Given the description of an element on the screen output the (x, y) to click on. 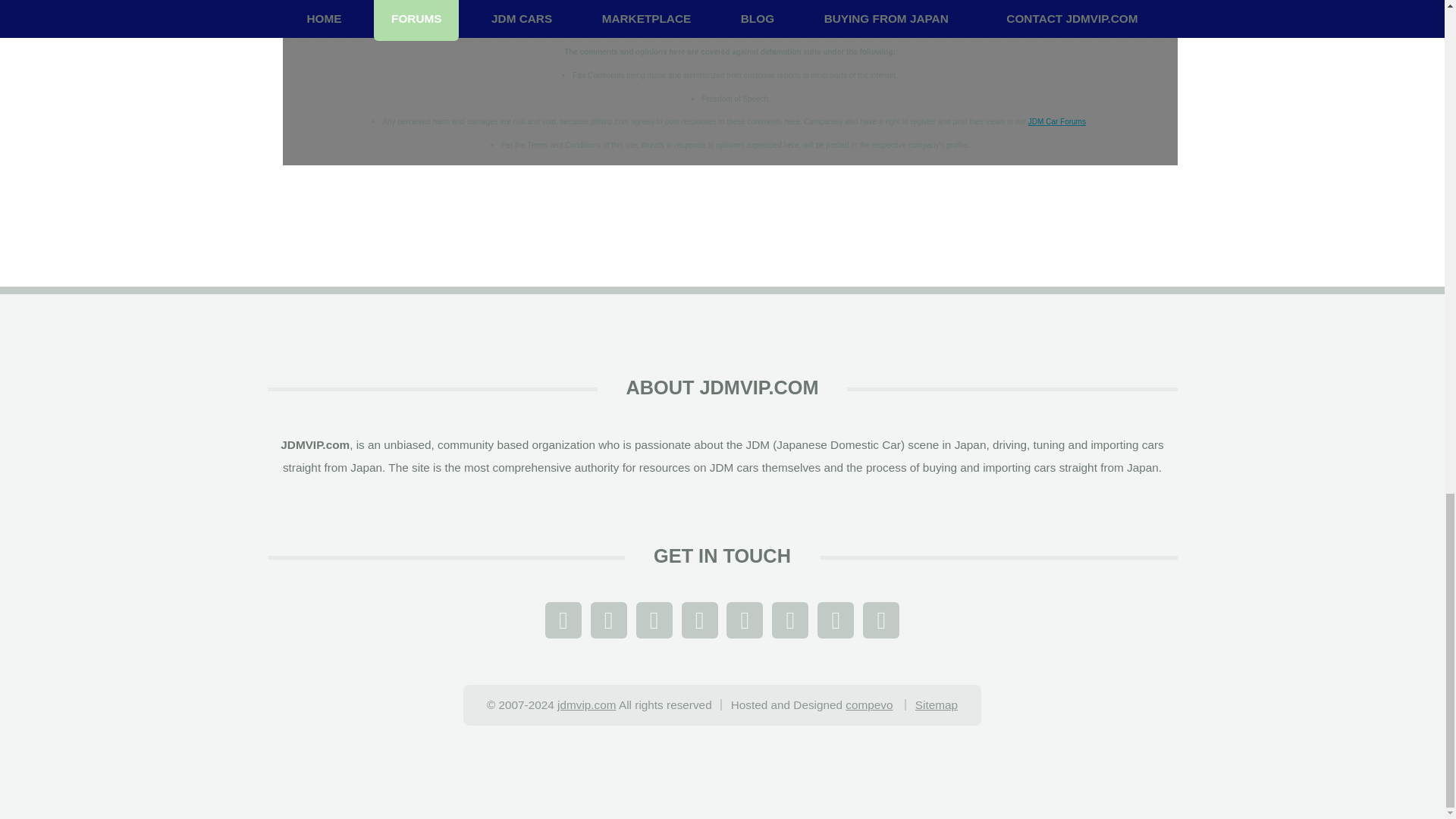
JDM Car Forums (1056, 121)
compevo (868, 704)
jdmvip.com (586, 704)
Sitemap (936, 704)
